Given the description of an element on the screen output the (x, y) to click on. 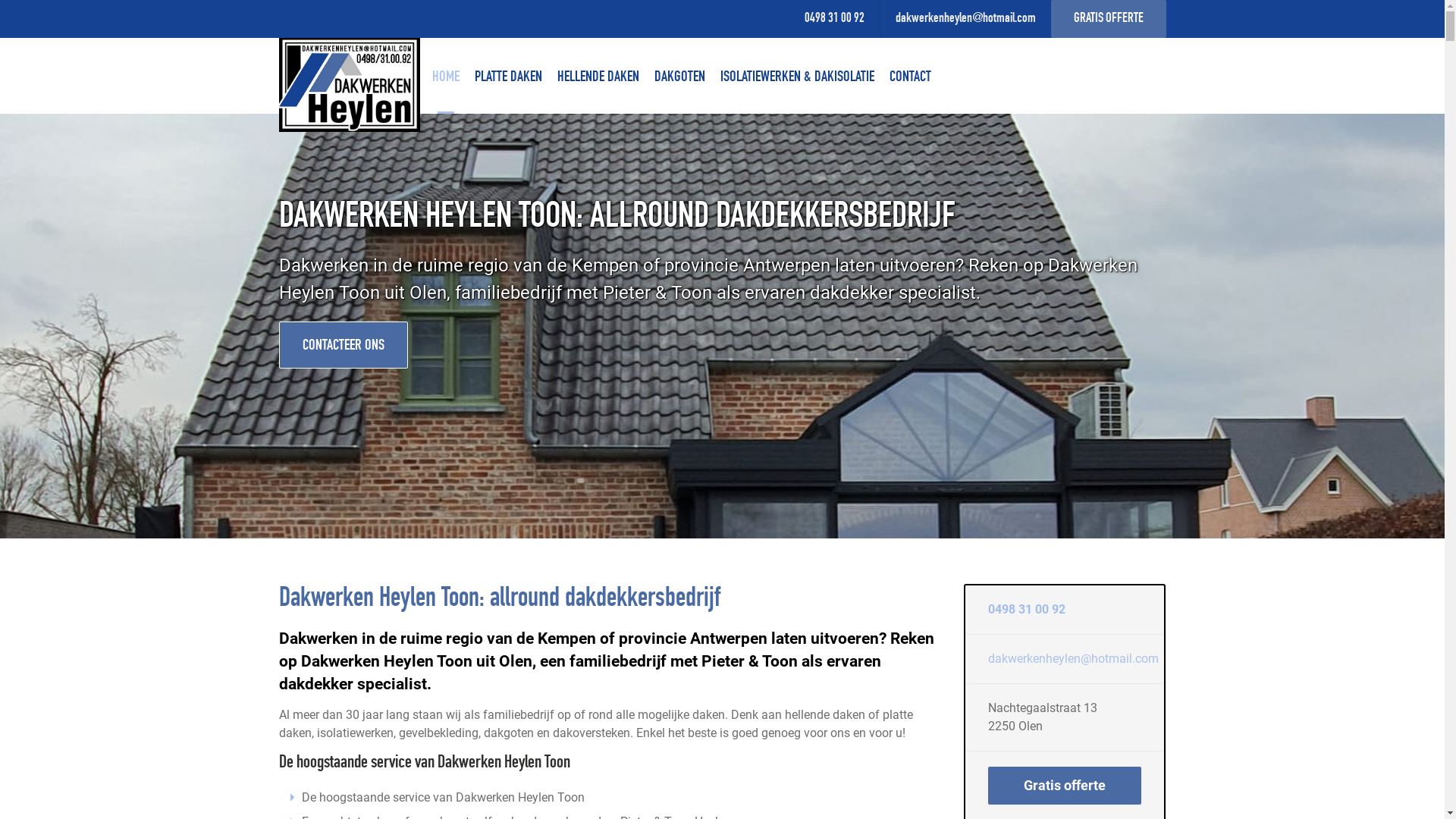
PLATTE DAKEN Element type: text (508, 76)
ISOLATIEWERKEN & DAKISOLATIE Element type: text (797, 76)
HOME Element type: text (445, 76)
CONTACTEER ONS Element type: text (343, 344)
GRATIS OFFERTE Element type: text (1108, 18)
dakwerkenheylen@hotmail.com Element type: text (1073, 658)
CONTACT Element type: text (910, 76)
Gratis offerte Element type: text (1064, 785)
dakwerkenheylen@hotmail.com Element type: text (964, 18)
HELLENDE DAKEN Element type: text (598, 76)
0498 31 00 92 Element type: text (833, 18)
DAKGOTEN Element type: text (679, 76)
0498 31 00 92 Element type: text (1026, 609)
